Given the description of an element on the screen output the (x, y) to click on. 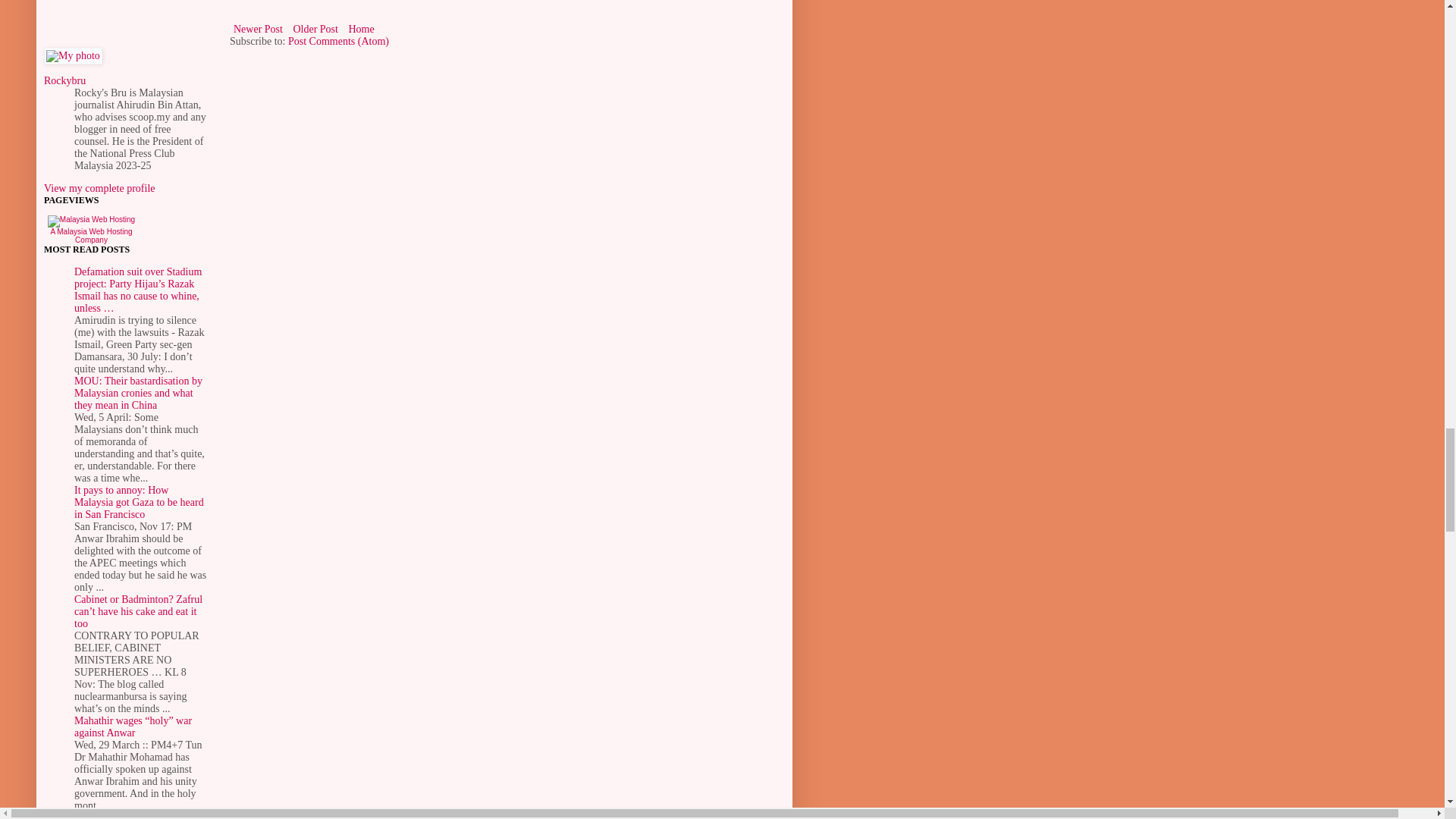
Newer Post (258, 28)
Malaysia Web Hosting (91, 229)
Older Post (315, 28)
